Given the description of an element on the screen output the (x, y) to click on. 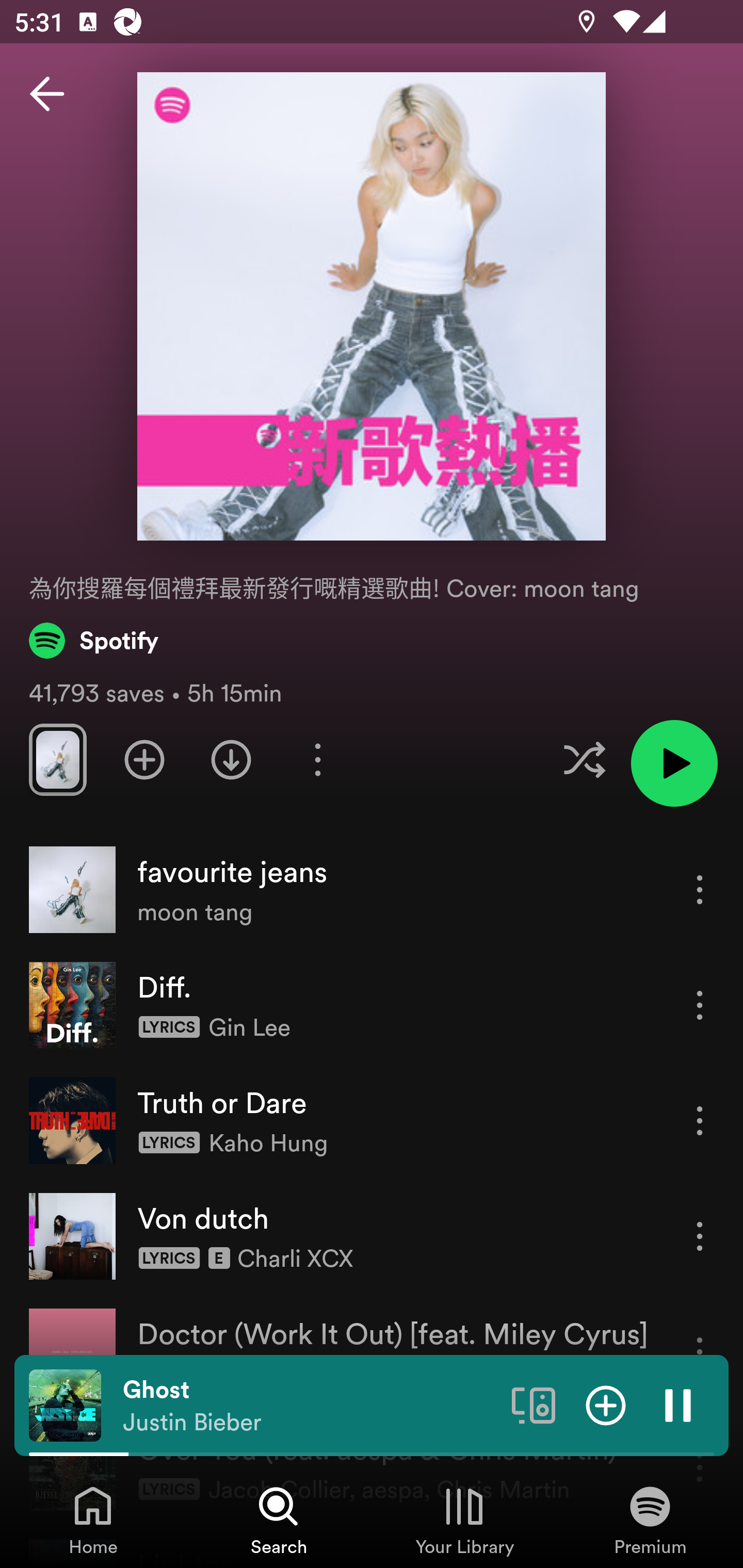
Back (46, 93)
Spotify (93, 640)
Add playlist to Your Library (144, 759)
Download (230, 759)
More options for playlist 新歌熱播 (317, 759)
Enable shuffle for this playlist (583, 759)
Play playlist (674, 763)
More options for song favourite jeans (699, 889)
Diff. More options for song Diff. Lyrics Gin Lee (371, 1005)
More options for song Diff. (699, 1004)
More options for song Truth or Dare (699, 1120)
More options for song Von dutch (699, 1236)
Ghost Justin Bieber (309, 1405)
The cover art of the currently playing track (64, 1404)
Connect to a device. Opens the devices menu (533, 1404)
Add item (605, 1404)
Pause (677, 1404)
Home, Tab 1 of 4 Home Home (92, 1519)
Search, Tab 2 of 4 Search Search (278, 1519)
Your Library, Tab 3 of 4 Your Library Your Library (464, 1519)
Premium, Tab 4 of 4 Premium Premium (650, 1519)
